Given the description of an element on the screen output the (x, y) to click on. 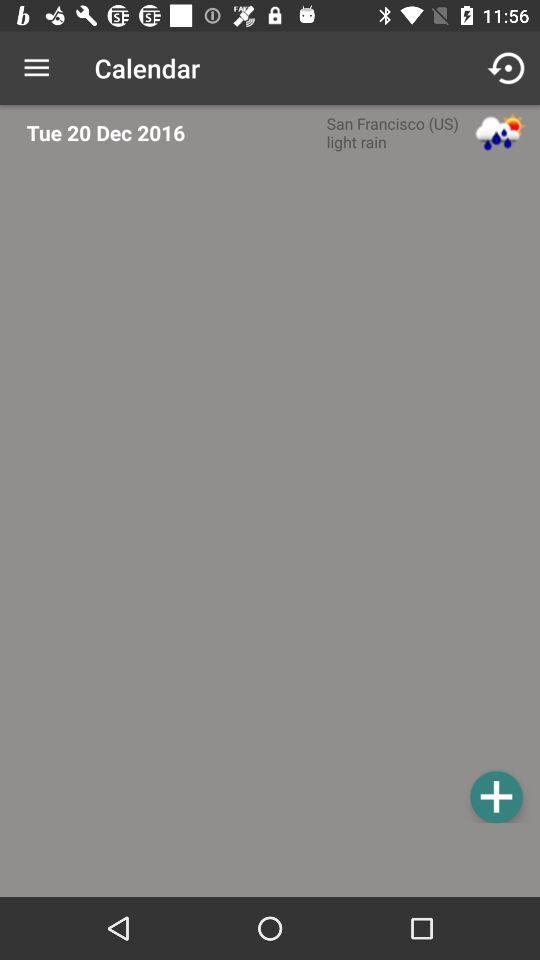
toggle add to calendar (496, 796)
